Given the description of an element on the screen output the (x, y) to click on. 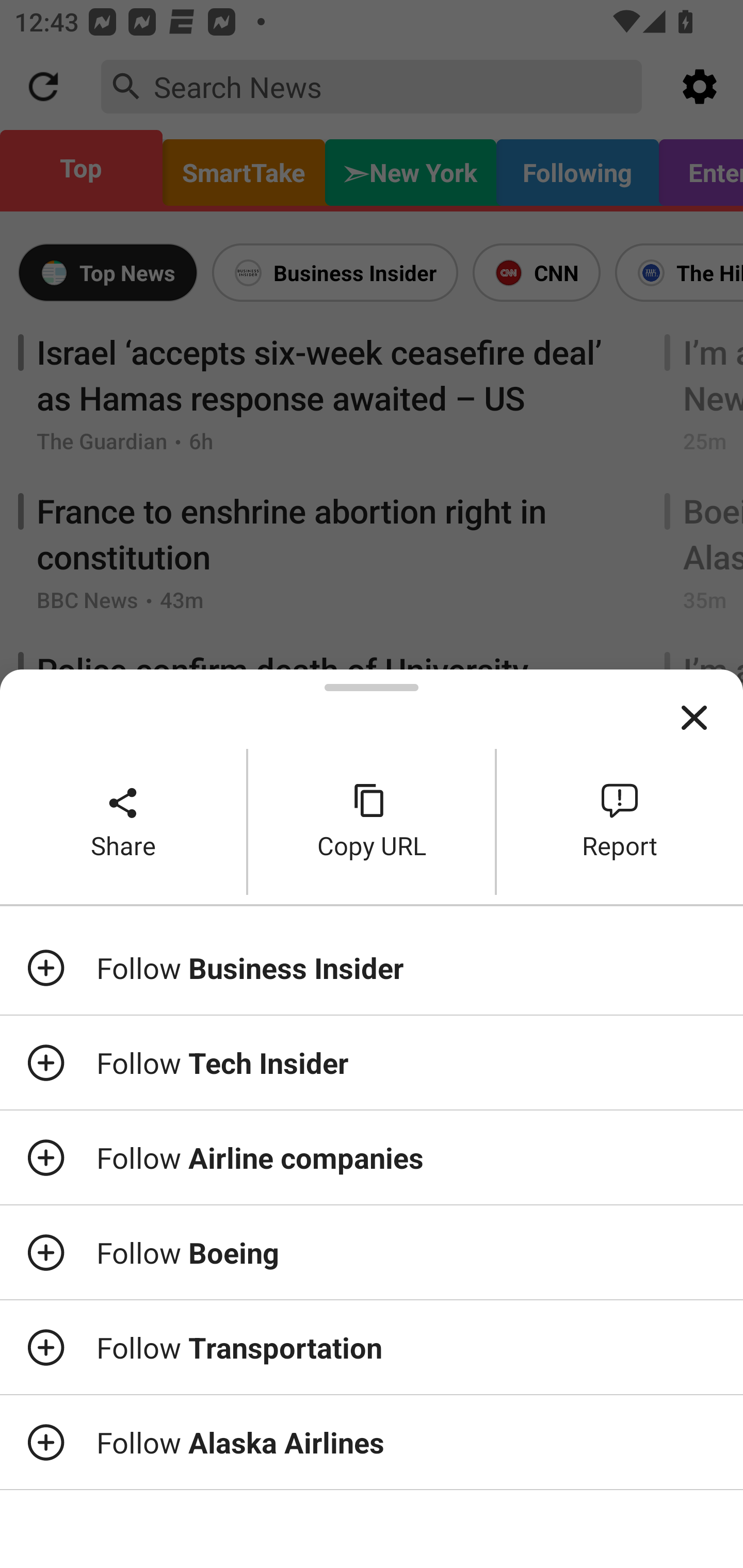
Close (694, 717)
Share (122, 822)
Copy URL (371, 822)
Report (620, 822)
Follow Business Insider (371, 967)
Follow Tech Insider (371, 1063)
Follow Airline companies (371, 1157)
Follow Boeing (371, 1252)
Follow Transportation (371, 1346)
Follow Alaska Airlines (371, 1442)
